Given the description of an element on the screen output the (x, y) to click on. 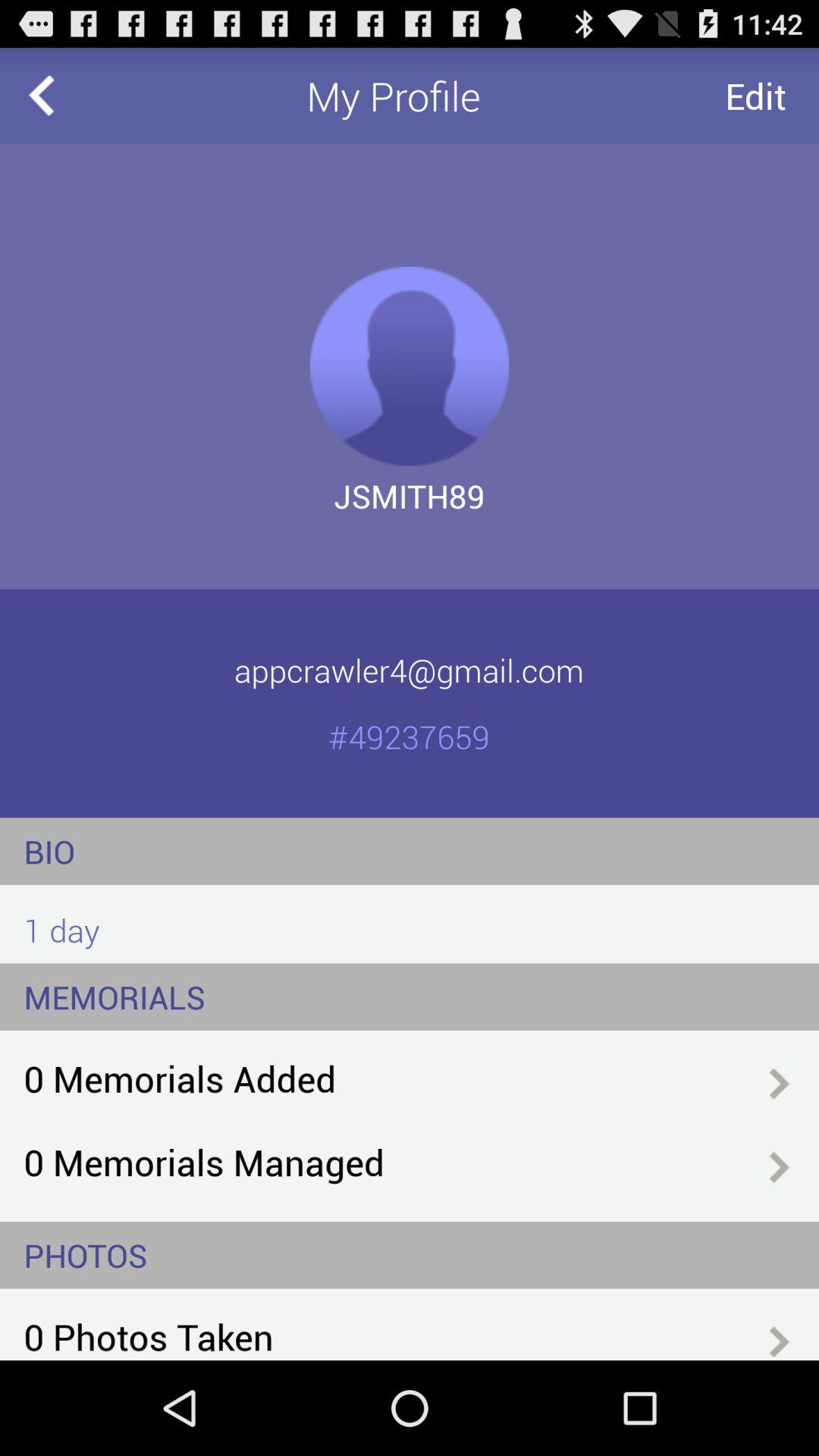
click on profile pic icon which is above jsmith89 (409, 365)
